Given the description of an element on the screen output the (x, y) to click on. 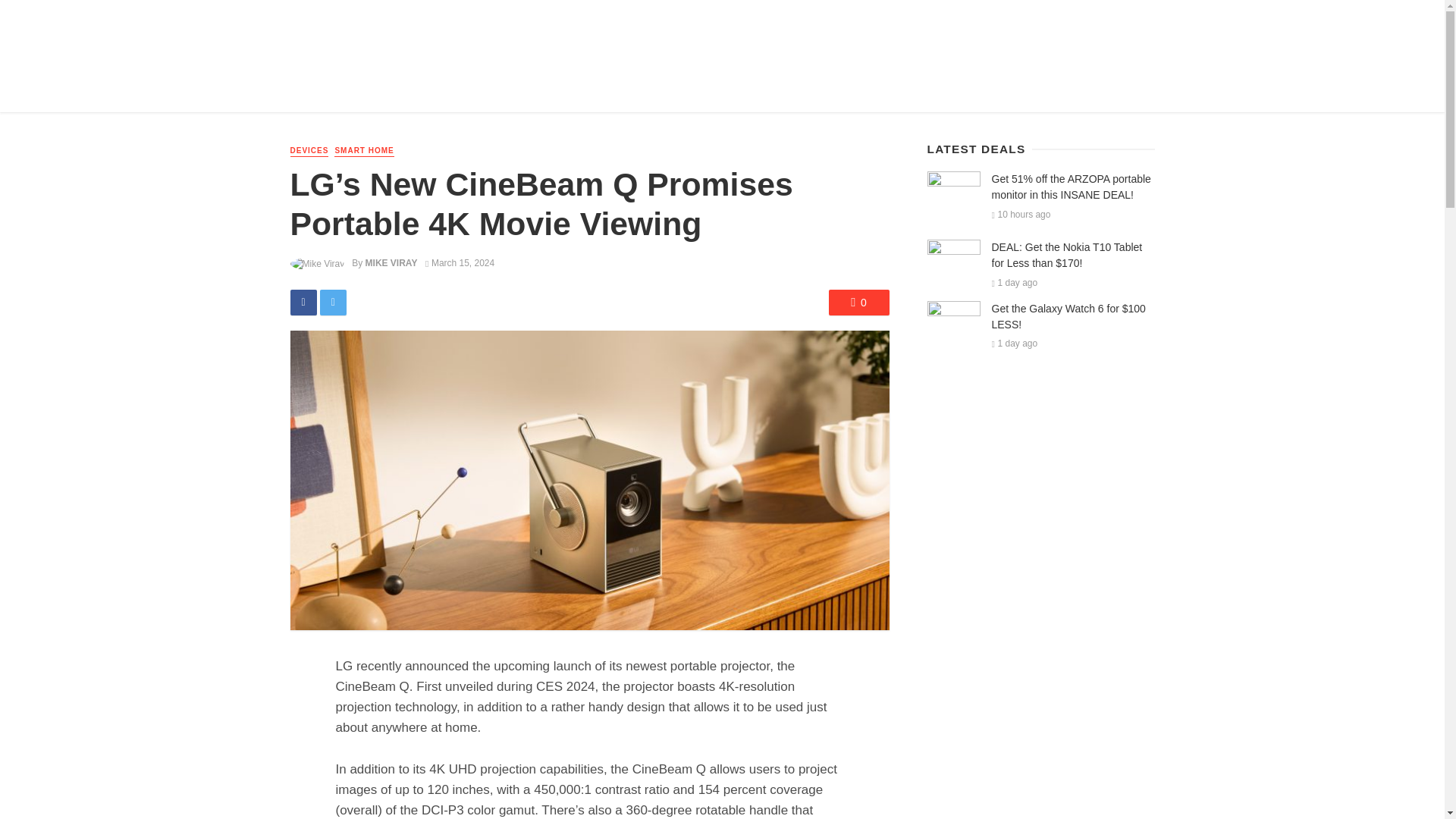
OPINION (560, 89)
Share on Twitter (333, 302)
0 Comments (858, 302)
DEVICES (309, 151)
NEWS (345, 89)
Share on Facebook (302, 302)
HOW TO (504, 89)
Posts by Mike Viray (391, 262)
REVIEWS (398, 89)
SMART HOME (363, 151)
MIKE VIRAY (391, 262)
DEALS (452, 89)
MORE (612, 89)
0 (858, 302)
March 15, 2024 at 2:58 pm (460, 262)
